Given the description of an element on the screen output the (x, y) to click on. 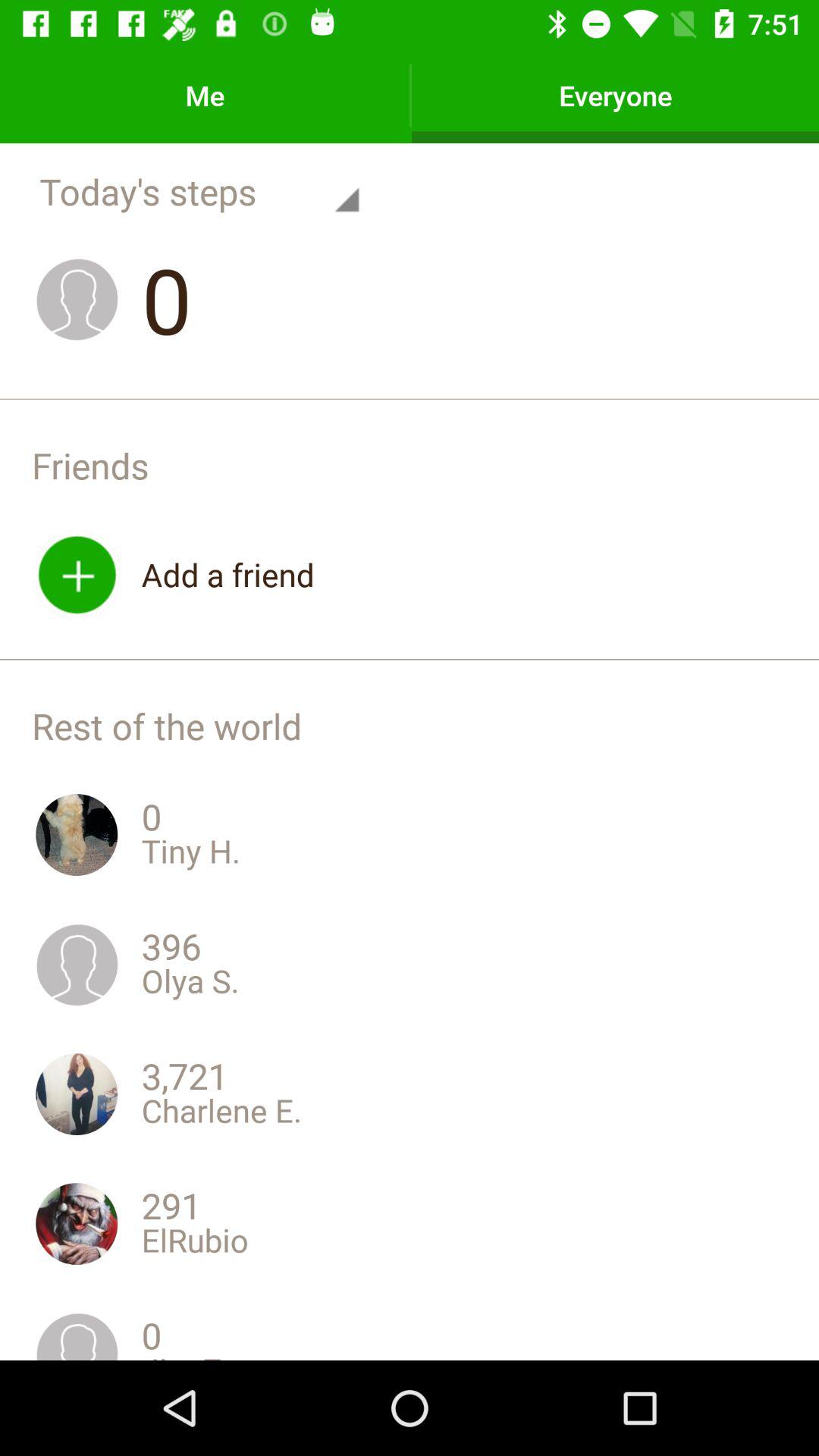
select the fourth image in rest of the world (76, 1223)
